Given the description of an element on the screen output the (x, y) to click on. 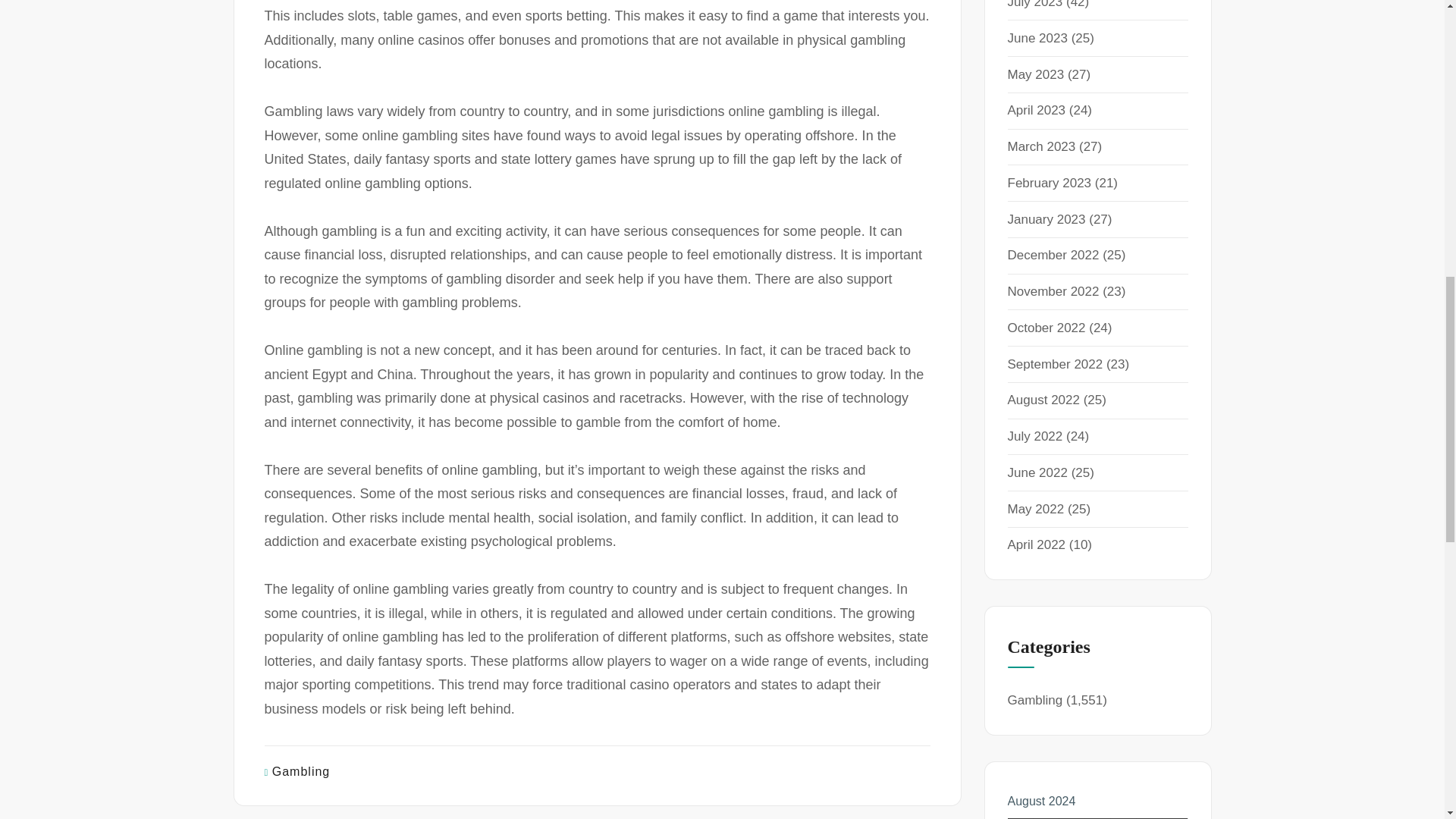
December 2022 (1053, 255)
January 2023 (1045, 219)
April 2023 (1036, 110)
November 2022 (1053, 291)
September 2022 (1054, 364)
March 2023 (1041, 146)
